Given the description of an element on the screen output the (x, y) to click on. 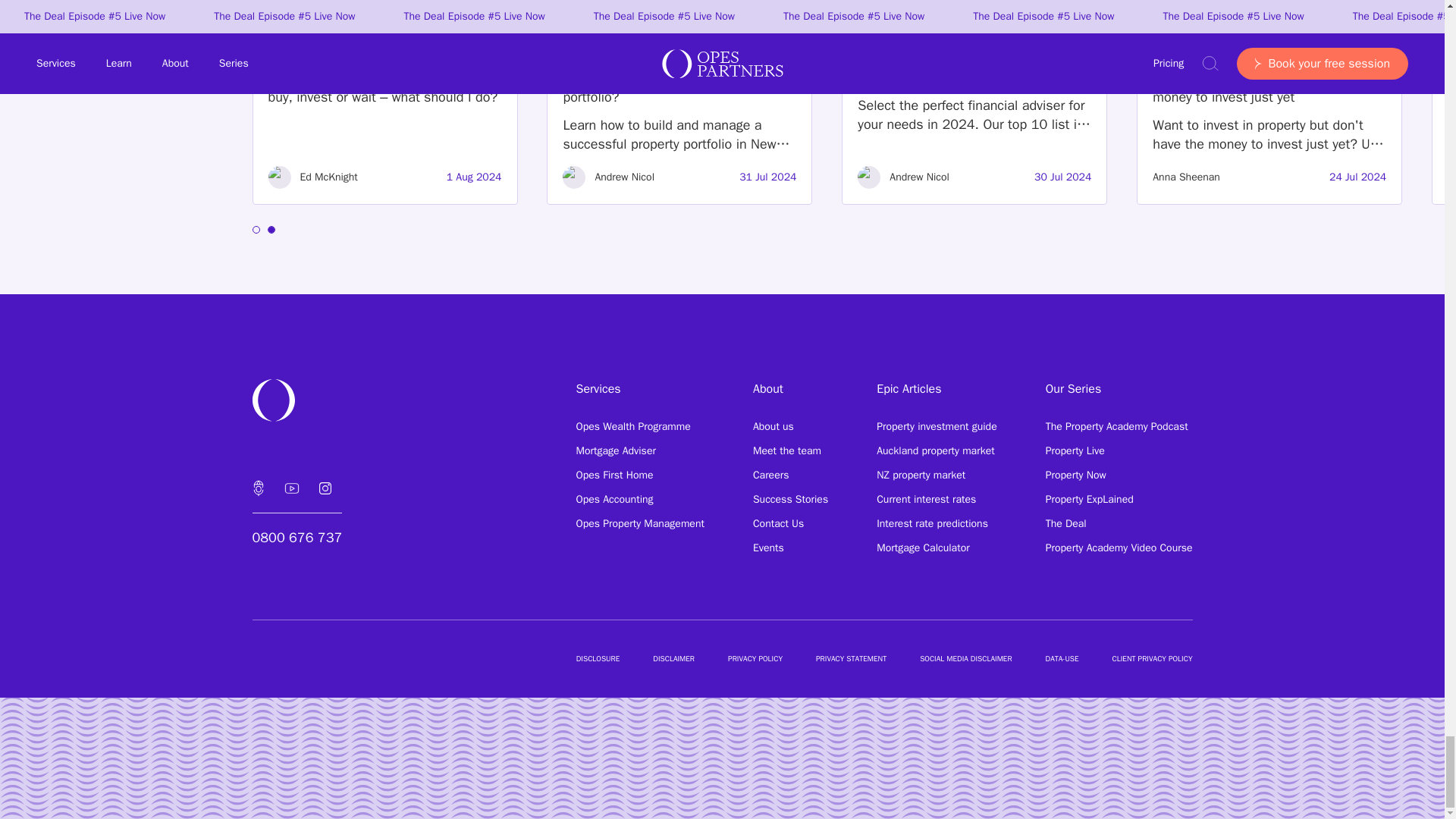
Instagram (323, 488)
Podcast (258, 488)
Published on Wednesday 24th July, 2024 (1357, 177)
Published on Tuesday 30th July, 2024 (1061, 177)
YouTube (290, 488)
Published on Wednesday 31st July, 2024 (767, 177)
Published on Thursday 1st August, 2024 (474, 177)
